Given the description of an element on the screen output the (x, y) to click on. 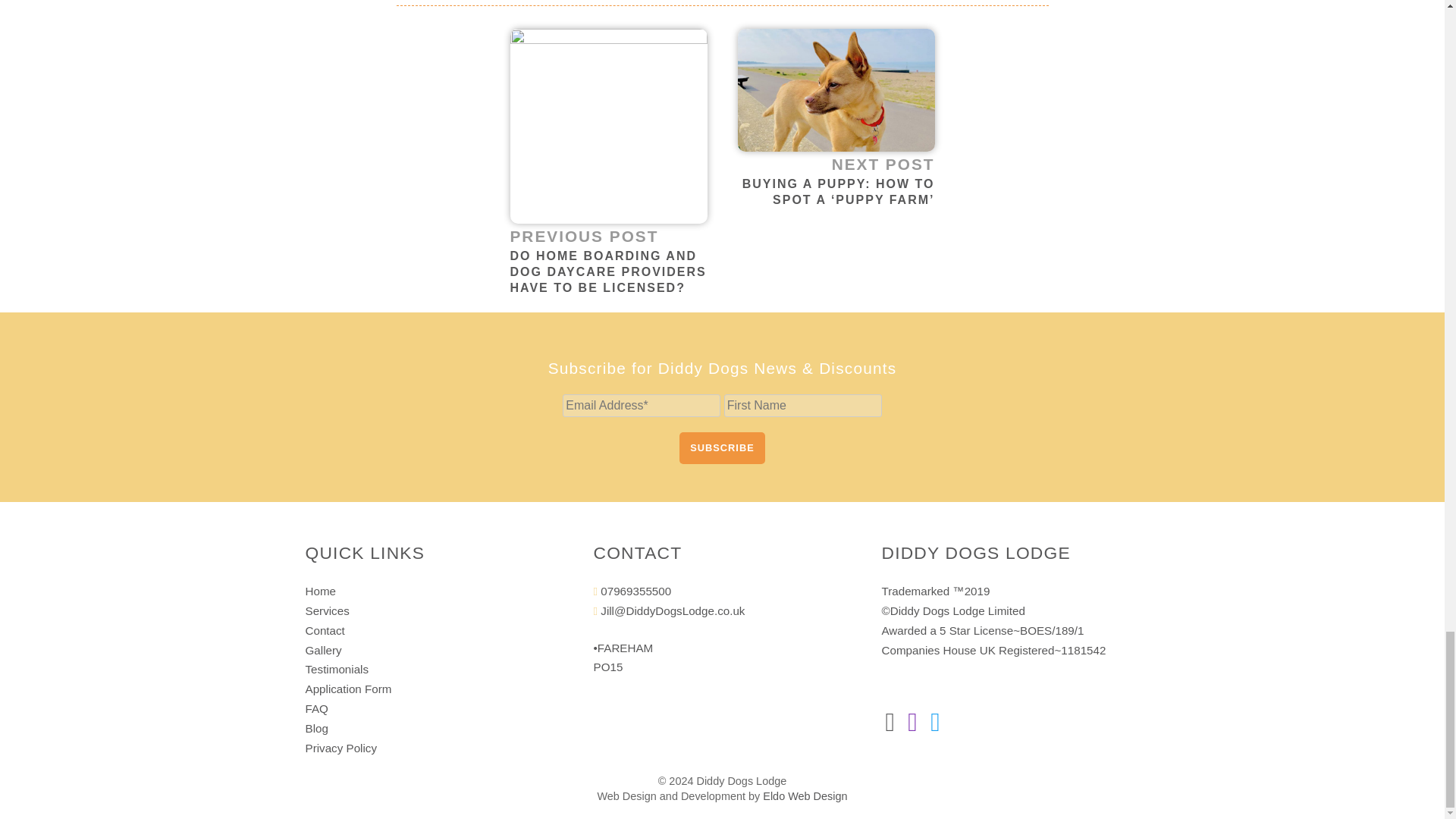
Gallery (322, 649)
Contact (323, 630)
Subscribe (721, 448)
Application Form (347, 688)
Blog (315, 727)
Services (326, 610)
Eldo Web Design (804, 796)
FAQ (315, 707)
07969355500 (631, 590)
Testimonials (336, 668)
Privacy Policy (340, 748)
Subscribe (721, 448)
Home (320, 590)
